Given the description of an element on the screen output the (x, y) to click on. 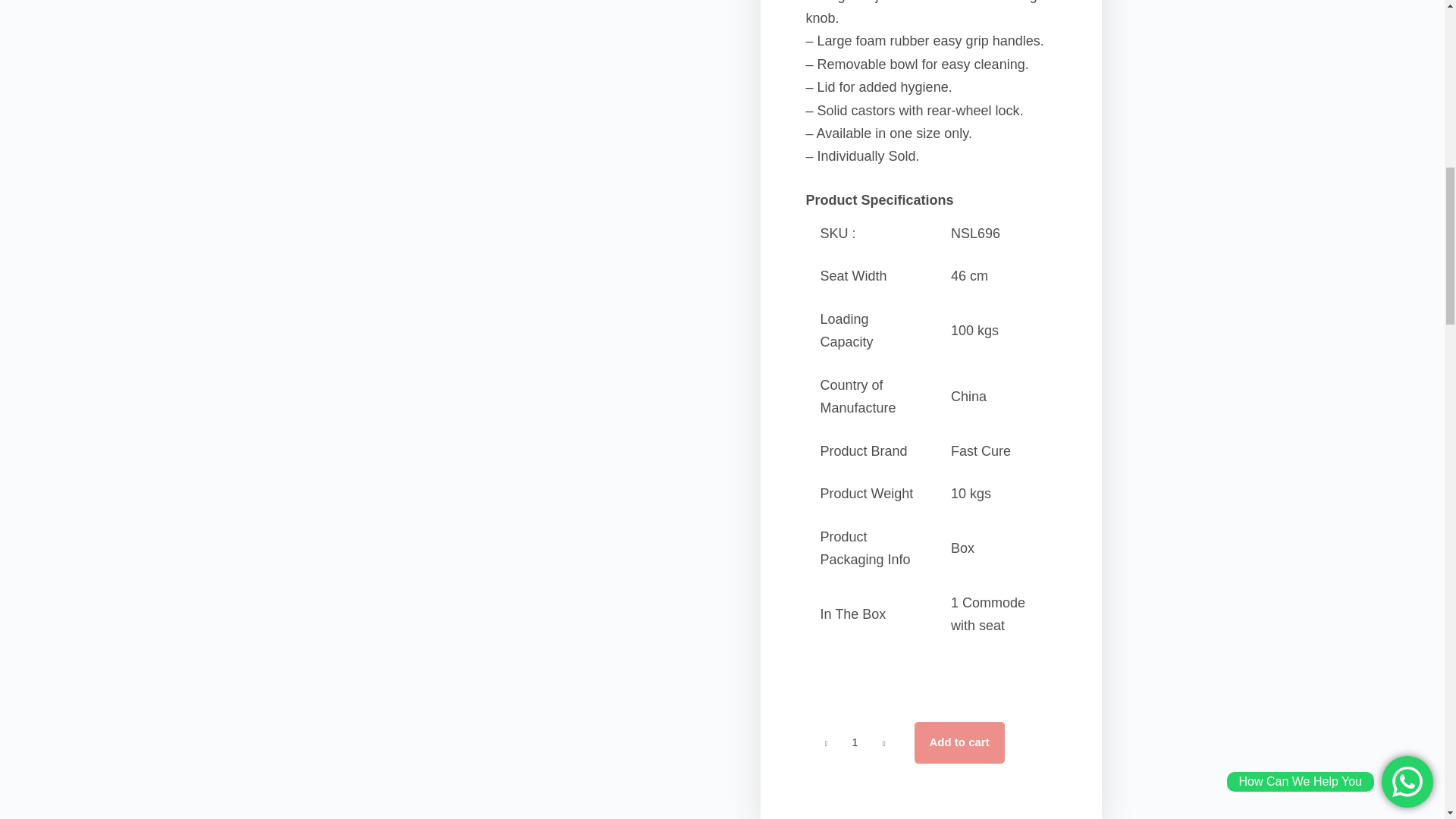
1 (854, 742)
